Given the description of an element on the screen output the (x, y) to click on. 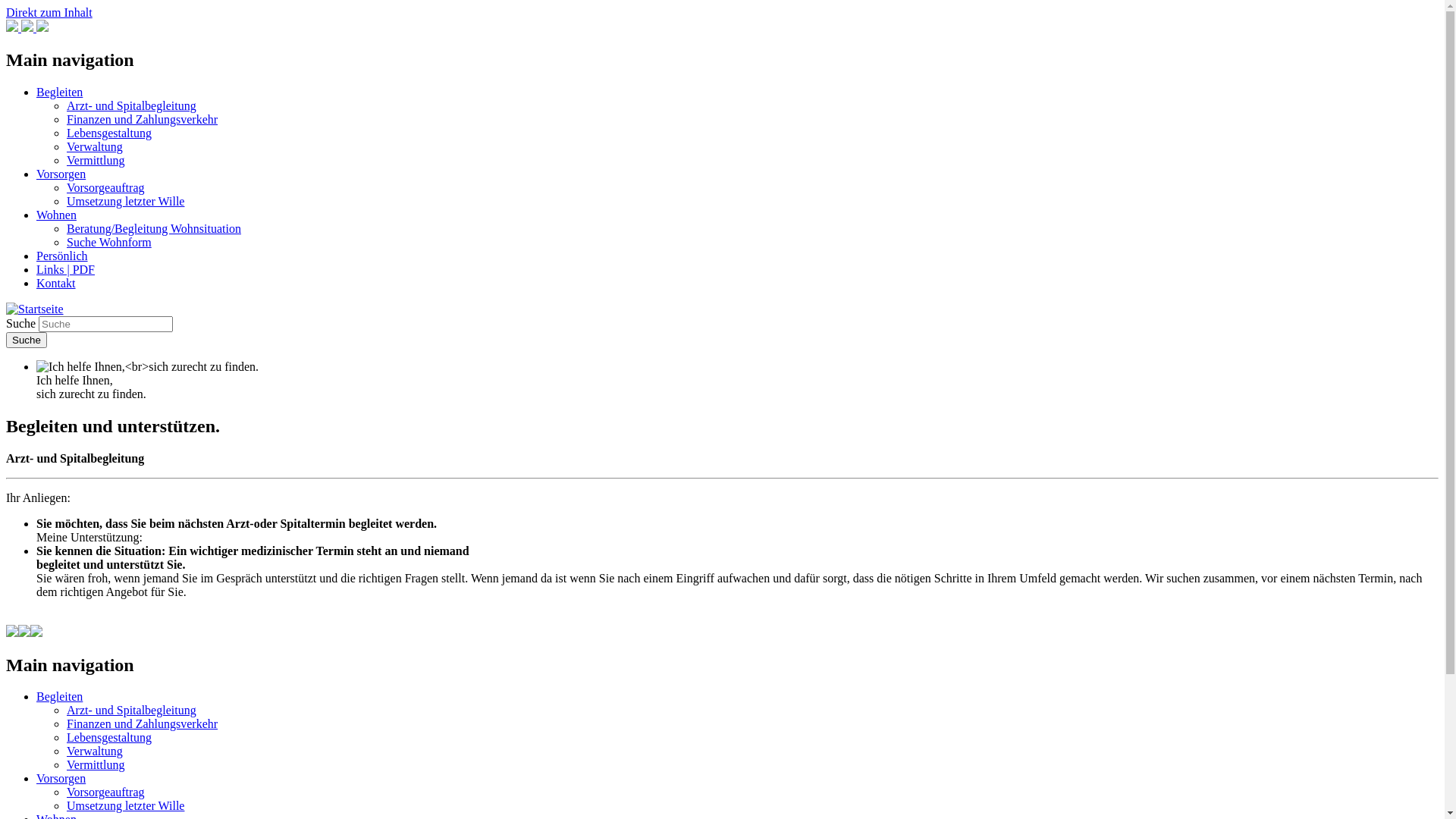
Lebensgestaltung Element type: text (108, 132)
Verwaltung Element type: text (94, 146)
Suche Element type: text (26, 340)
Begleiten Element type: text (59, 696)
Direkt zum Inhalt Element type: text (49, 12)
Suche Wohnform Element type: text (108, 241)
Beratung/Begleitung Wohnsituation Element type: text (153, 228)
Umsetzung letzter Wille Element type: text (125, 805)
Umsetzung letzter Wille Element type: text (125, 200)
Kontakt Element type: text (55, 282)
Vorsorgen Element type: text (60, 777)
Verwaltung Element type: text (94, 750)
Vorsorgeauftrag Element type: text (105, 791)
Finanzen und Zahlungsverkehr Element type: text (141, 723)
Vermittlung Element type: text (95, 159)
Vermittlung Element type: text (95, 764)
Finanzen und Zahlungsverkehr Element type: text (141, 118)
Vorsorgeauftrag Element type: text (105, 187)
Vorsorgen Element type: text (60, 173)
Begleiten Element type: text (59, 91)
Links | PDF Element type: text (65, 269)
Wohnen Element type: text (56, 214)
Arzt- und Spitalbegleitung Element type: text (131, 105)
Lebensgestaltung Element type: text (108, 737)
Arzt- und Spitalbegleitung Element type: text (131, 709)
